Given the description of an element on the screen output the (x, y) to click on. 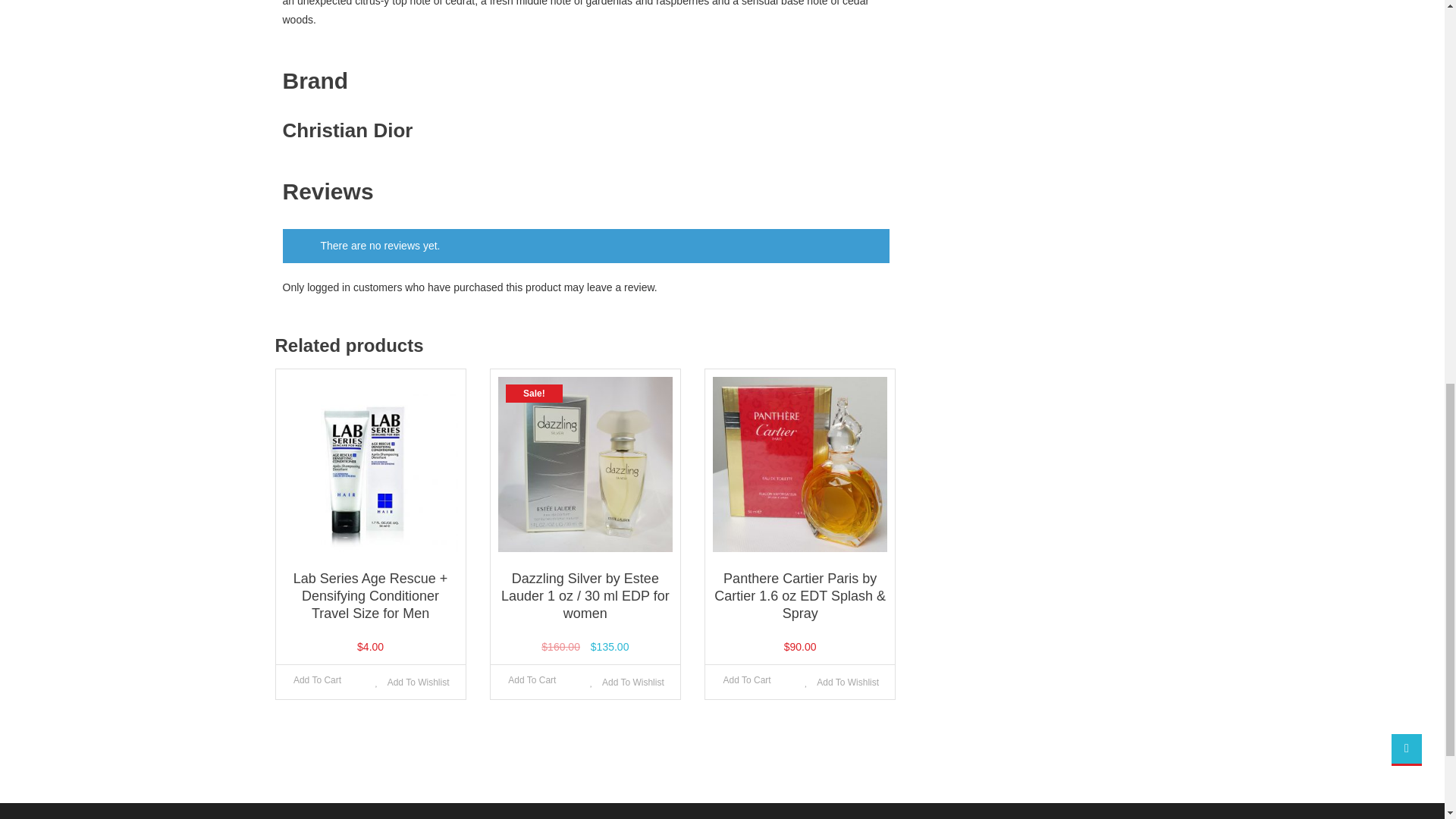
Sale! (584, 463)
Add To Cart (531, 680)
Add To Wishlist (842, 682)
Add To Wishlist (626, 682)
Add To Cart (746, 680)
Add To Wishlist (412, 682)
Add To Cart (317, 680)
